Given the description of an element on the screen output the (x, y) to click on. 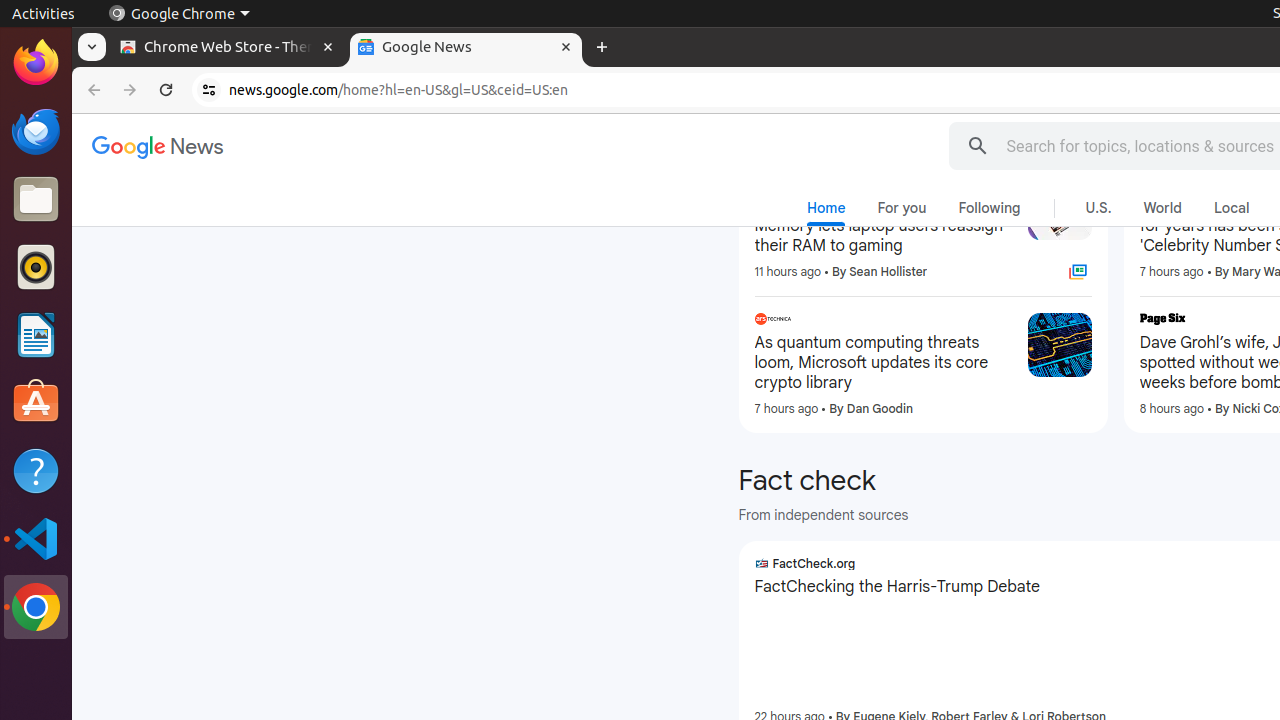
Thunderbird Mail Element type: push-button (36, 131)
Google News Element type: link (158, 148)
